Given the description of an element on the screen output the (x, y) to click on. 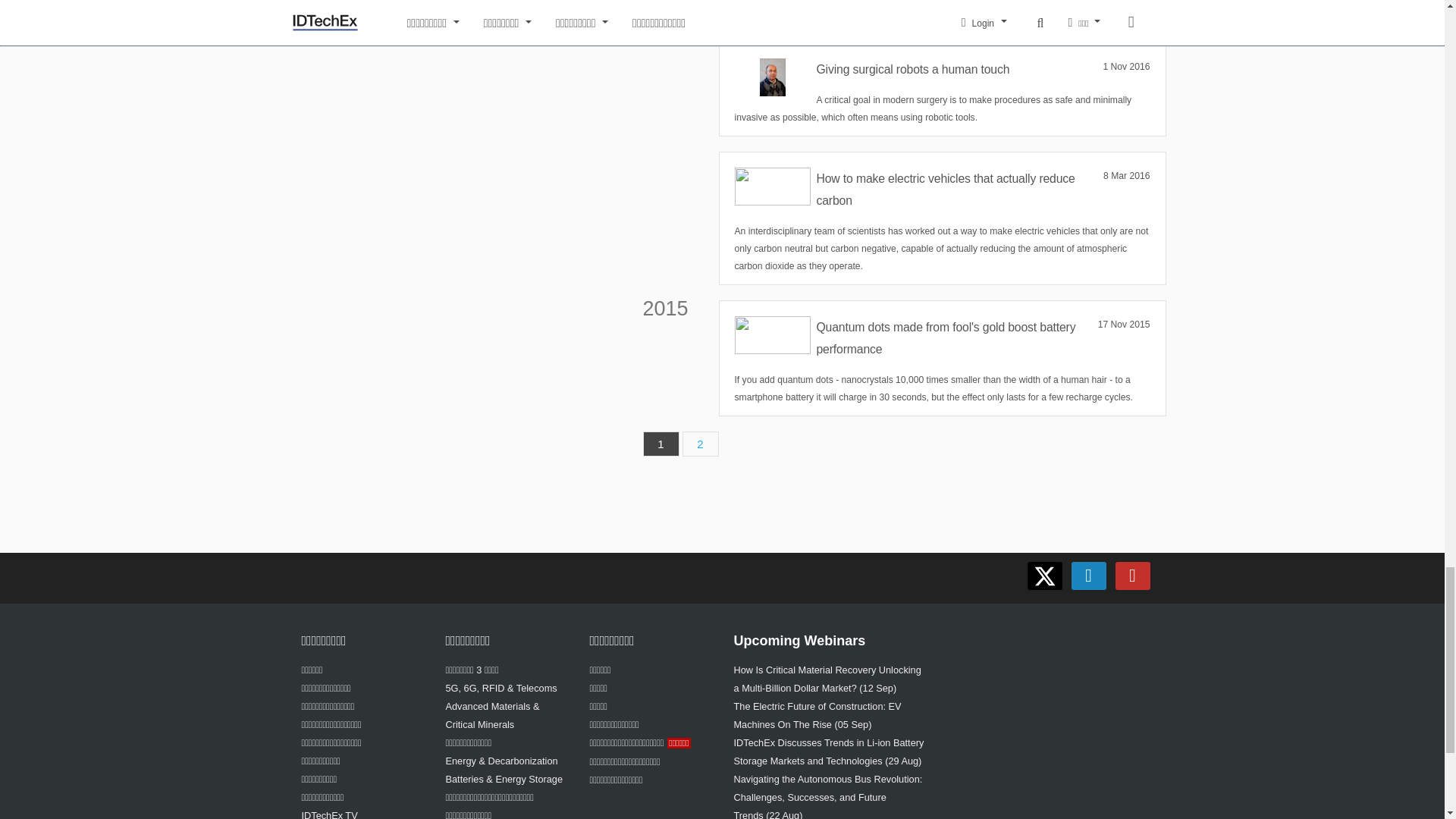
1 Nov 2016 (1126, 67)
8 Mar 2016 (1126, 176)
